Given the description of an element on the screen output the (x, y) to click on. 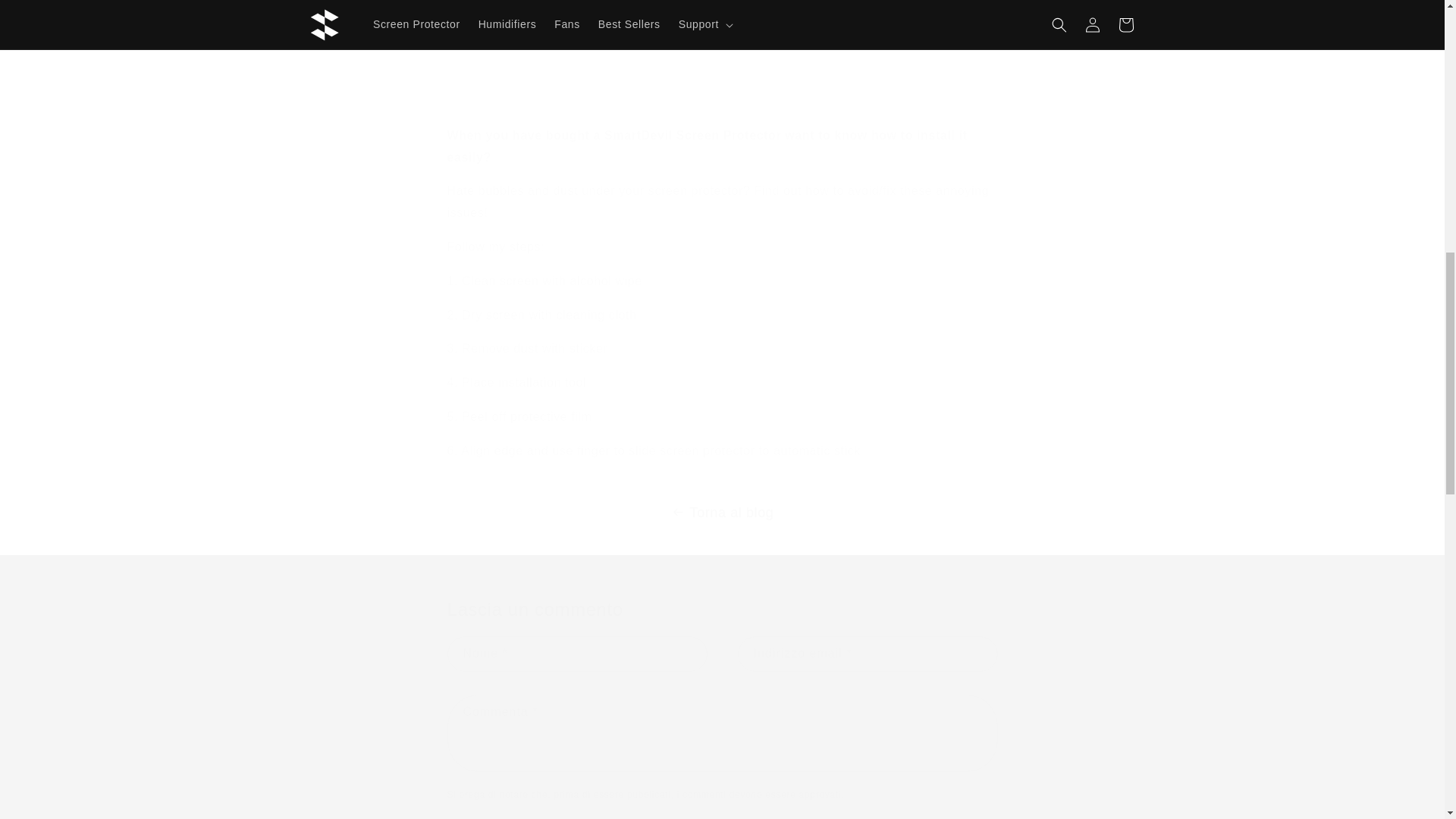
YouTube video player (721, 52)
